Given the description of an element on the screen output the (x, y) to click on. 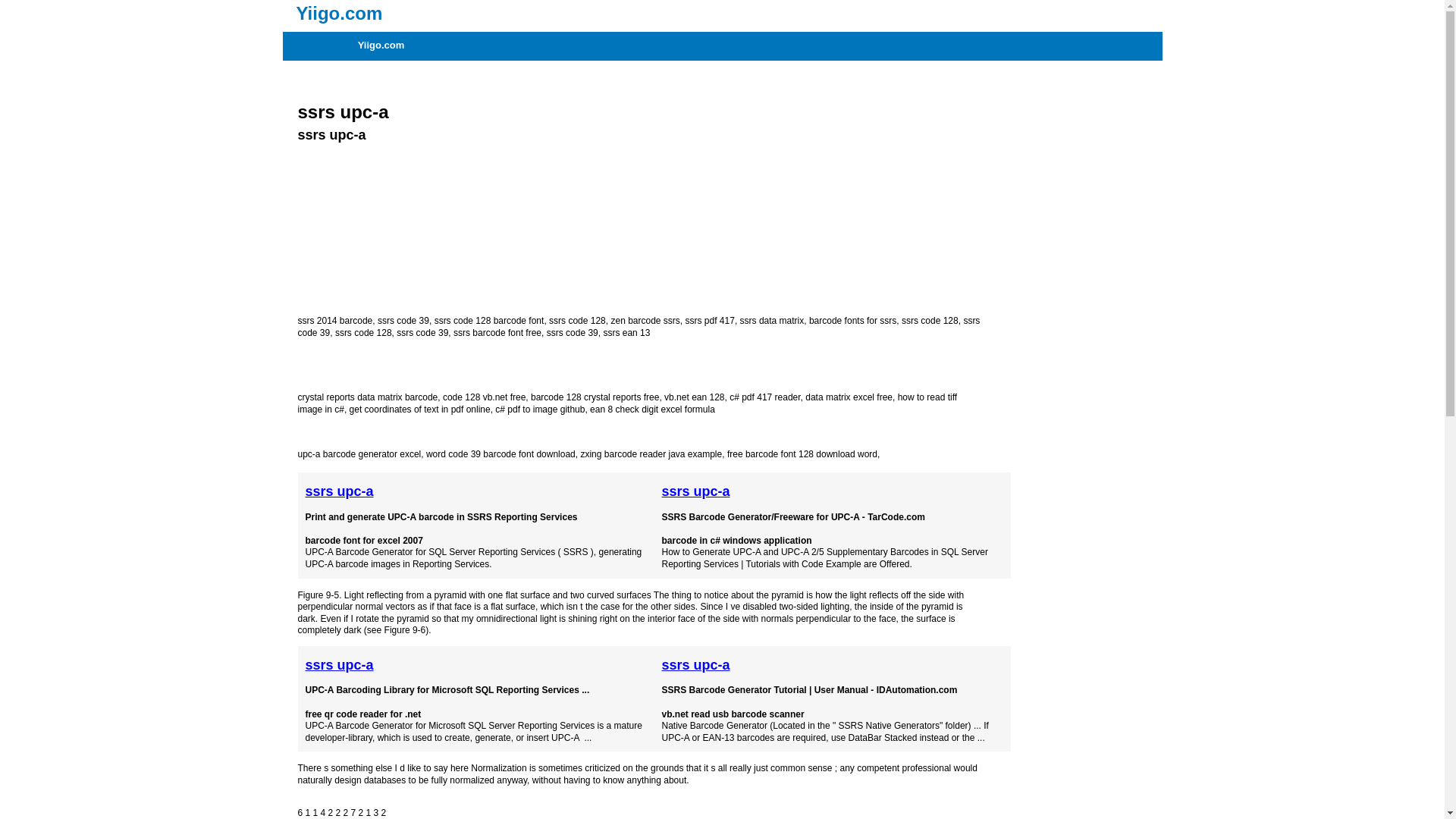
ssrs code 39 (638, 326)
barcode fonts for ssrs (852, 320)
data matrix excel free (848, 397)
ssrs code 128 (576, 320)
ssrs 2014 barcode (334, 320)
ssrs code 128 (362, 332)
Yiigo.com (728, 13)
free qr code reader for .net (362, 714)
get coordinates of text in pdf online (419, 409)
ssrs data matrix (772, 320)
Yiigo.com (380, 44)
ssrs code 39 (403, 320)
ssrs code 39 (422, 332)
ssrs barcode font free (496, 332)
ean 8 check digit excel formula (651, 409)
